Given the description of an element on the screen output the (x, y) to click on. 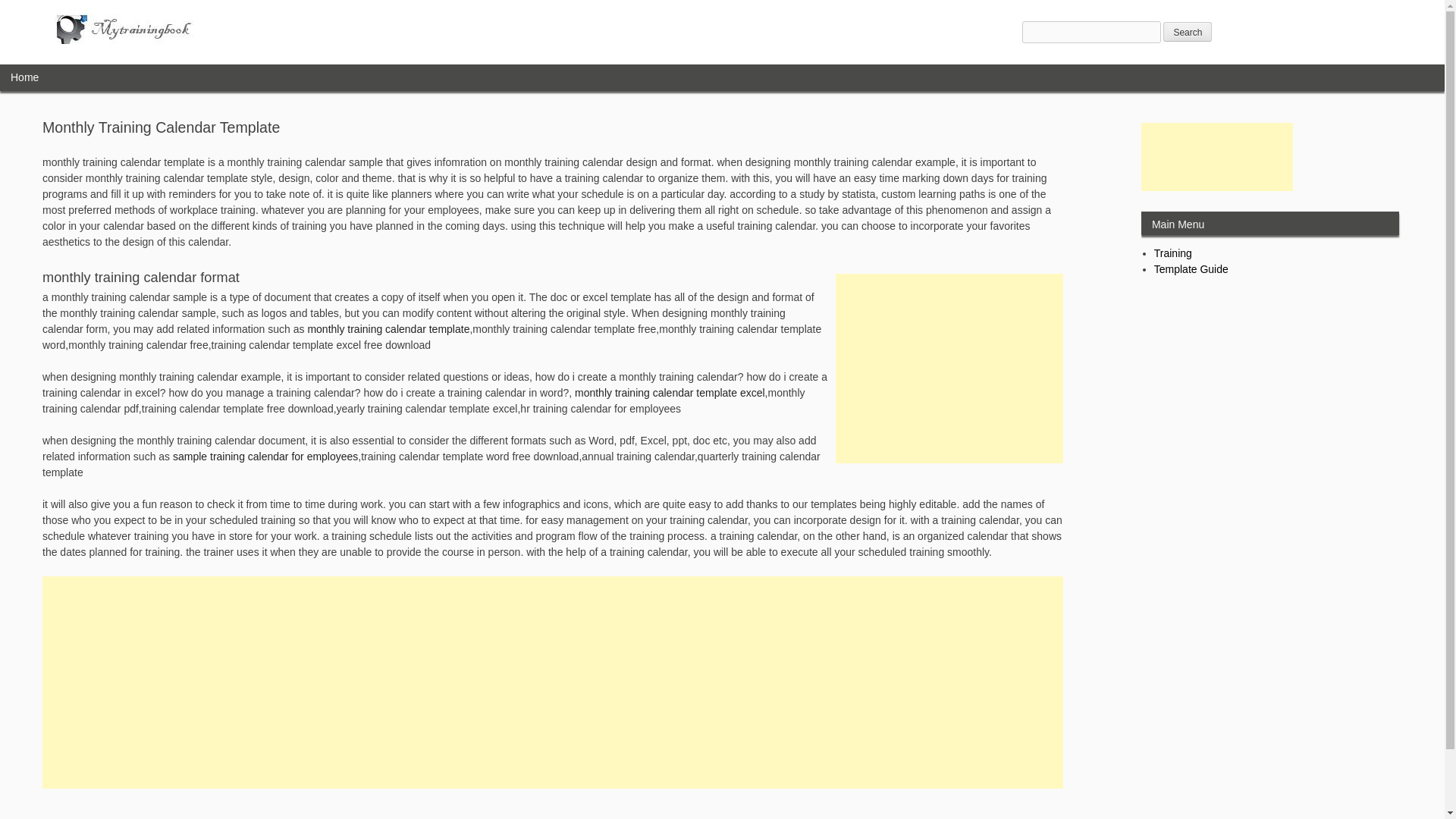
Home (24, 77)
Template Guide (1191, 268)
Advertisement (948, 368)
Search (1187, 31)
Training (1173, 253)
monthly training calendar template (387, 328)
Search (1187, 31)
sample training calendar for employees (265, 456)
Advertisement (1216, 156)
